Given the description of an element on the screen output the (x, y) to click on. 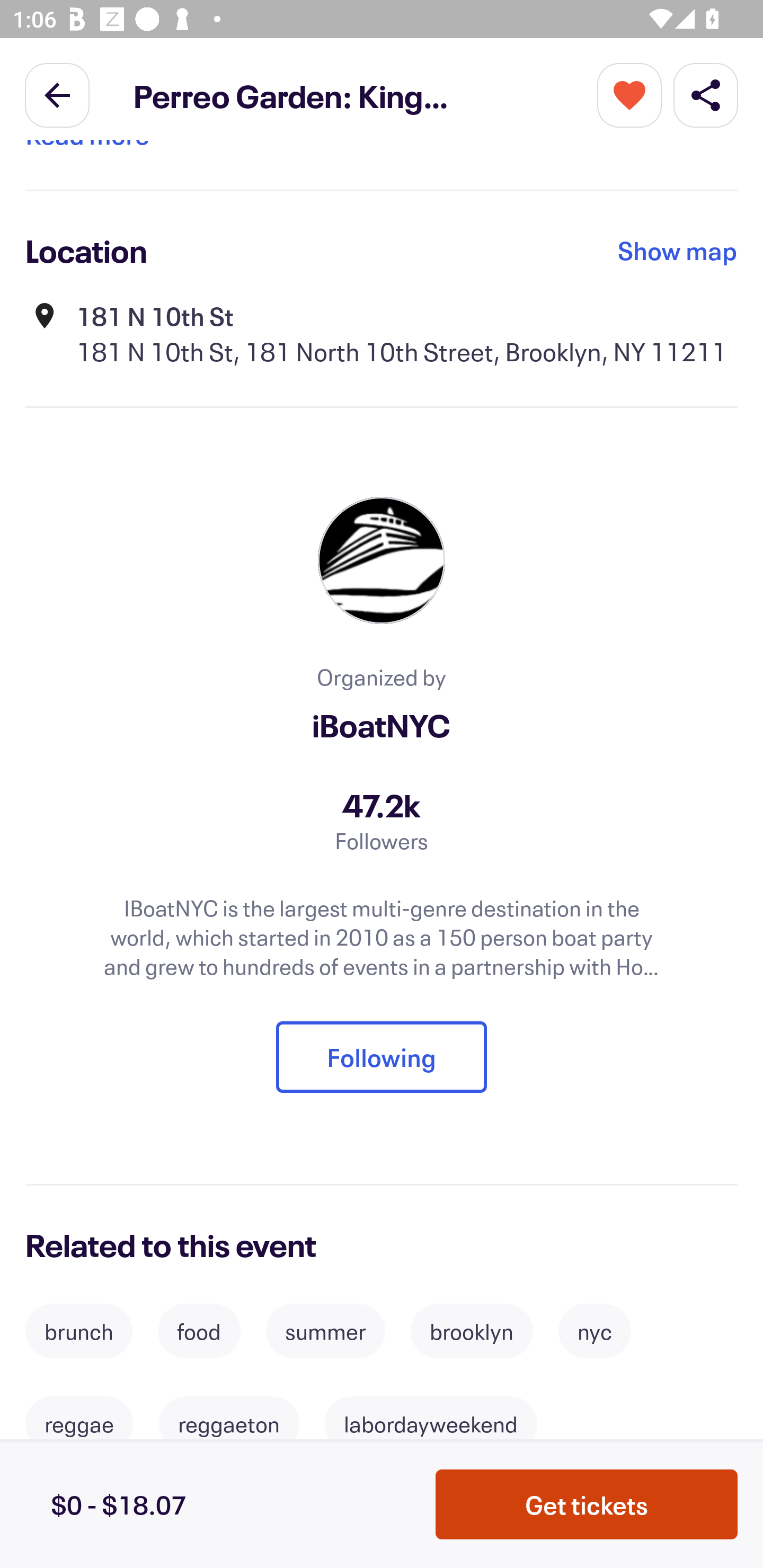
Back (57, 94)
More (629, 94)
Share (705, 94)
Show map (677, 249)
Organizer profile picture (381, 560)
iBoatNYC (381, 724)
Following (381, 1057)
brunch (78, 1330)
food (198, 1330)
summer (325, 1330)
brooklyn (471, 1330)
nyc (594, 1330)
reggae (79, 1423)
reggaeton (228, 1423)
labordayweekend (431, 1423)
Get tickets (586, 1504)
food_and_drink (117, 1516)
